Given the description of an element on the screen output the (x, y) to click on. 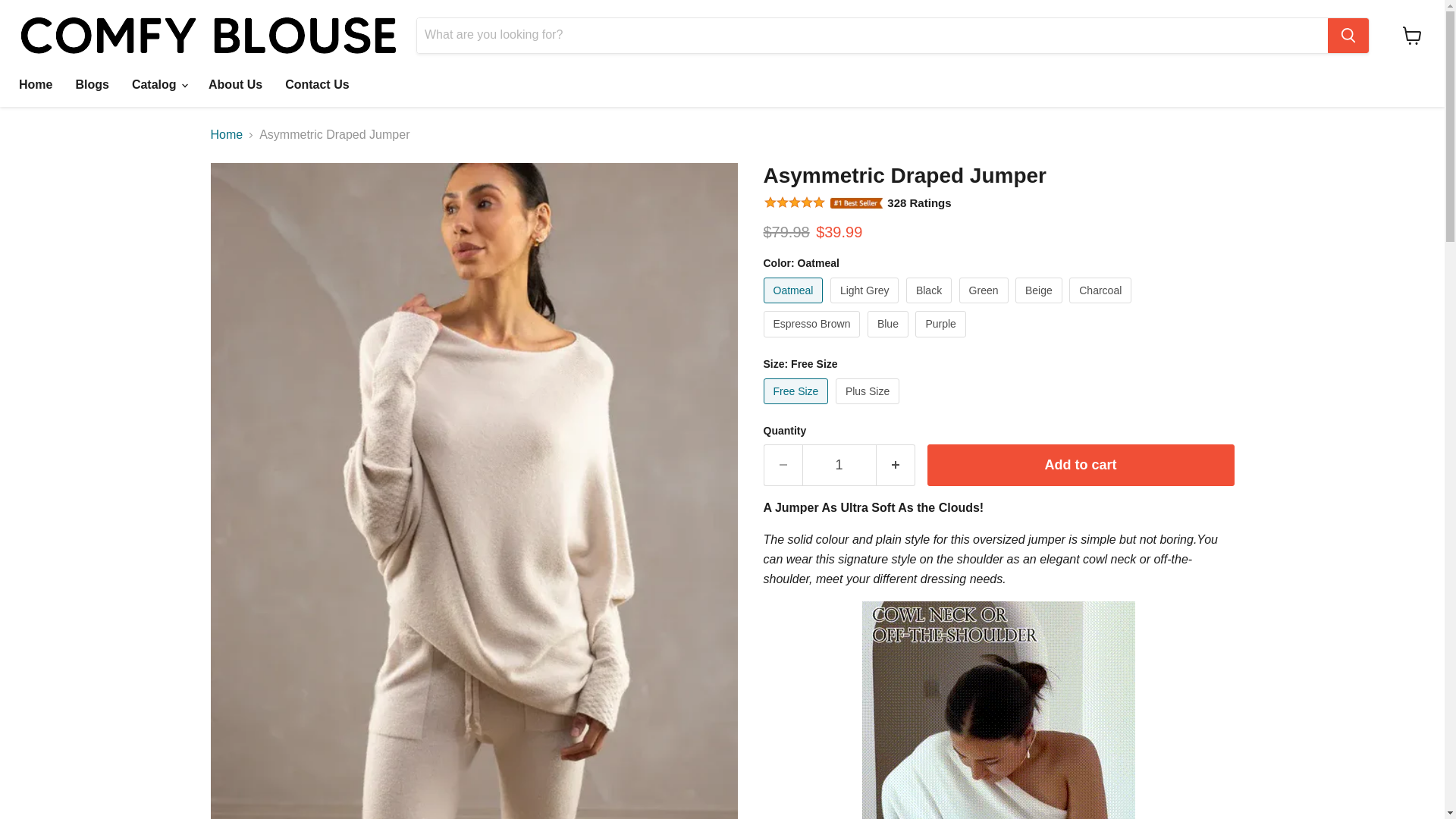
Contact Us (316, 84)
View cart (1411, 34)
About Us (234, 84)
Home (35, 84)
Blogs (91, 84)
Home (227, 134)
1 (839, 465)
